Given the description of an element on the screen output the (x, y) to click on. 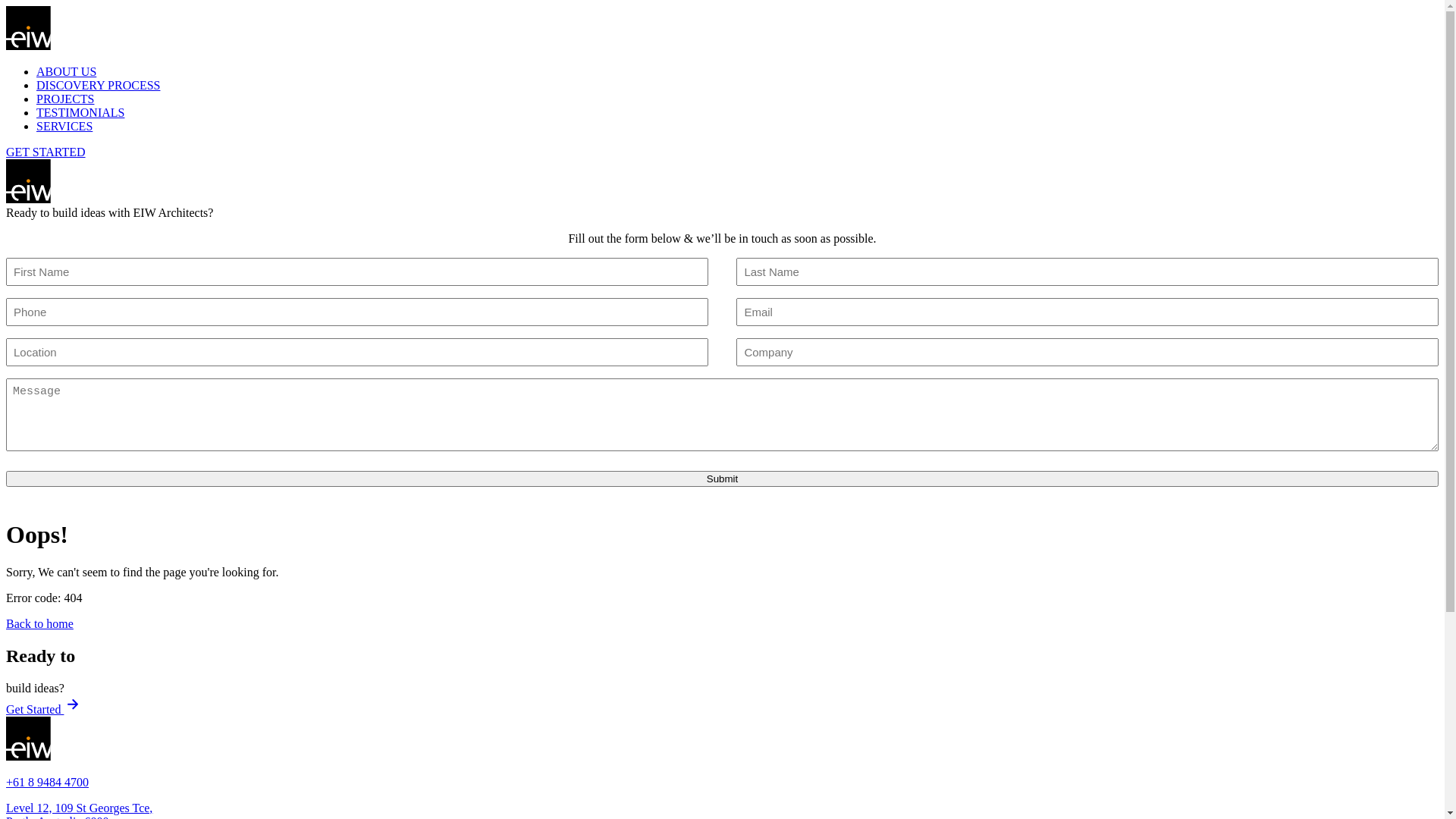
Get Started Element type: text (43, 708)
Submit Element type: text (722, 478)
+61 8 9484 4700 Element type: text (47, 781)
Back to home Element type: text (39, 623)
PROJECTS Element type: text (65, 98)
GET STARTED Element type: text (45, 151)
TESTIMONIALS Element type: text (80, 112)
ABOUT US Element type: text (66, 71)
SERVICES Element type: text (64, 125)
DISCOVERY PROCESS Element type: text (98, 84)
